Given the description of an element on the screen output the (x, y) to click on. 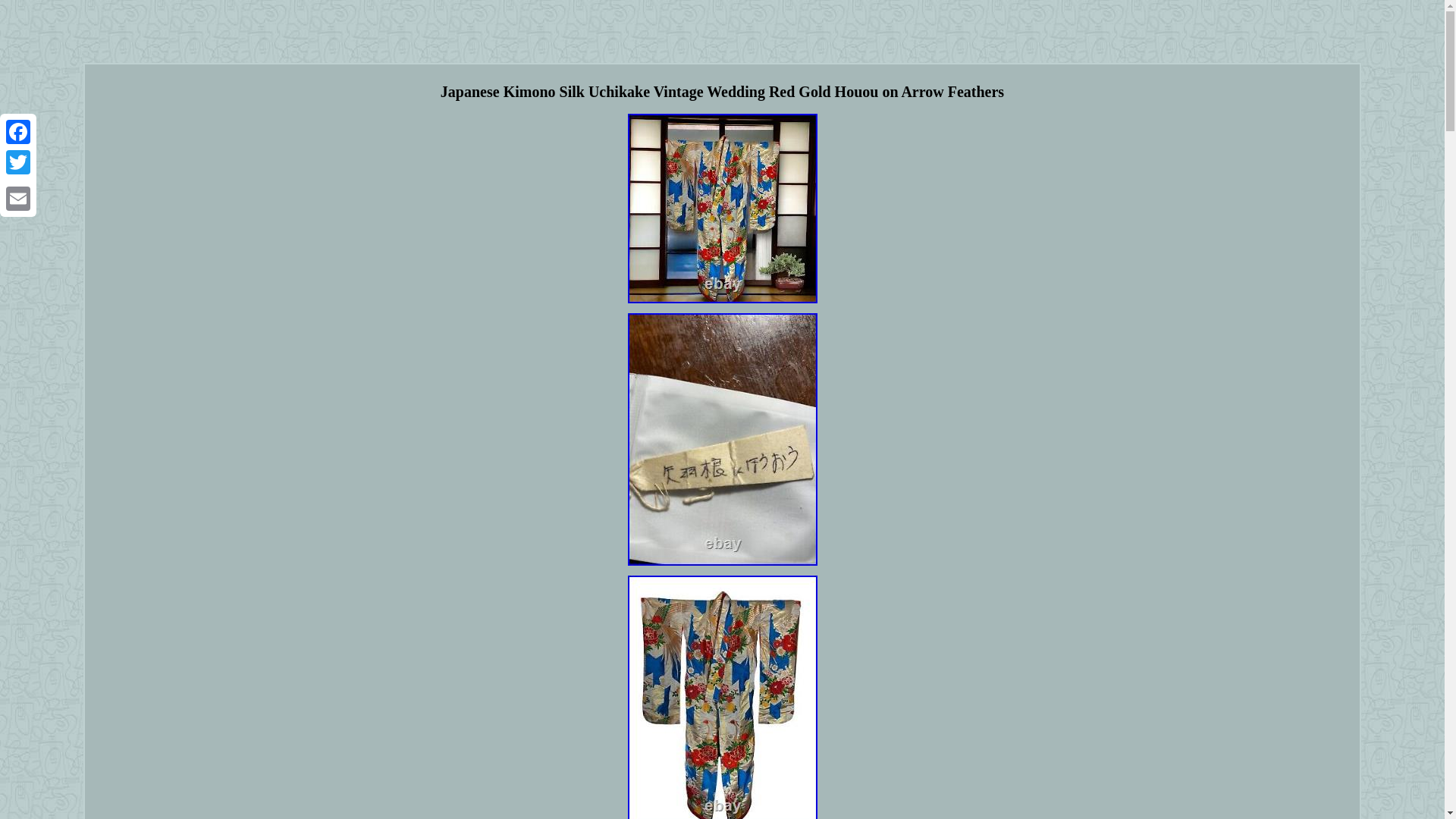
Facebook (17, 132)
Twitter (17, 162)
Email (17, 198)
